Given the description of an element on the screen output the (x, y) to click on. 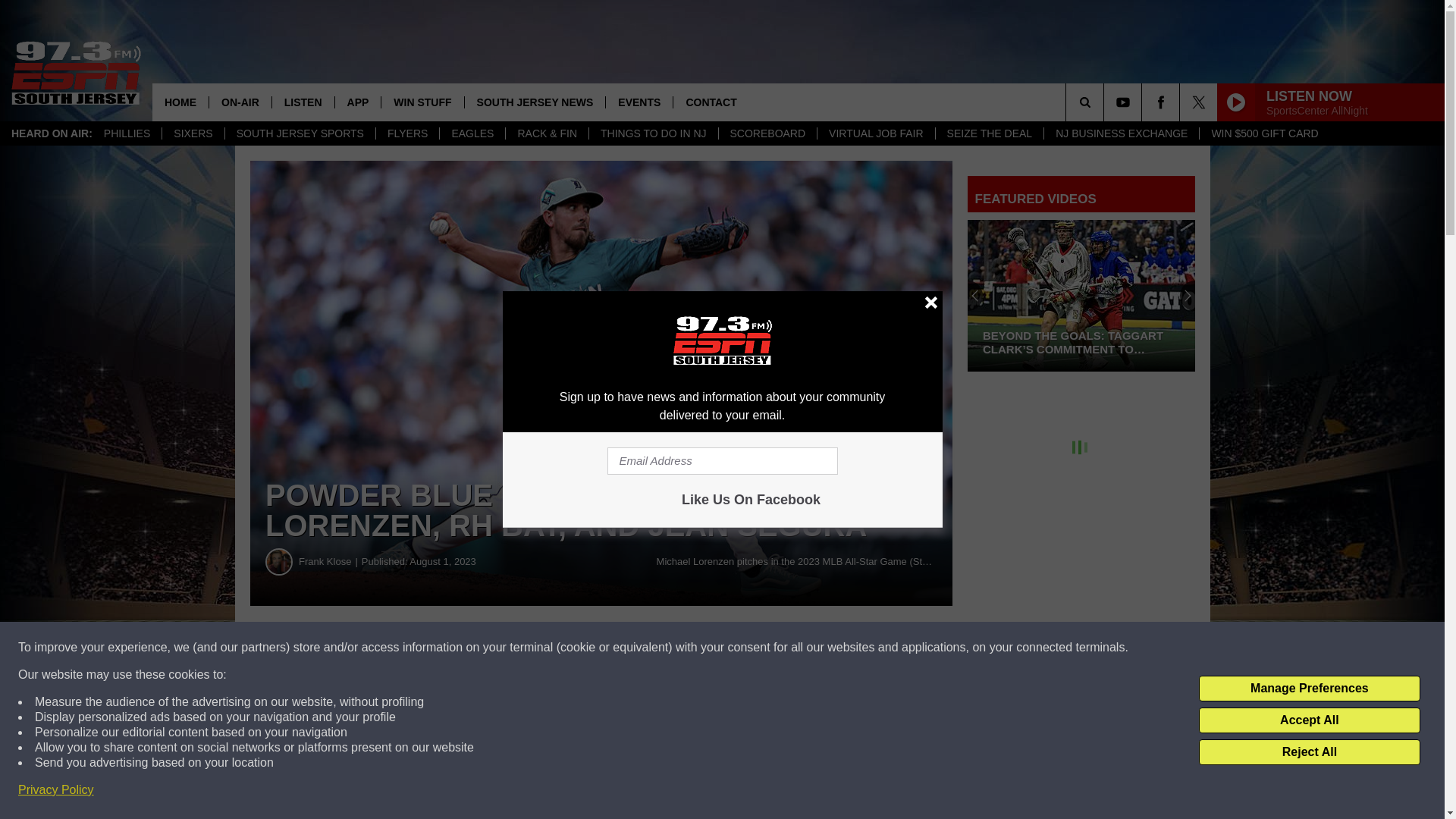
SEARCH (1106, 102)
VIRTUAL JOB FAIR (875, 133)
SEIZE THE DEAL (988, 133)
SOUTH JERSEY SPORTS (299, 133)
Accept All (1309, 720)
SEARCH (1106, 102)
Manage Preferences (1309, 688)
EAGLES (472, 133)
SCOREBOARD (766, 133)
Share on Facebook (460, 647)
HOME (180, 102)
APP (357, 102)
Share on Twitter (741, 647)
SIXERS (192, 133)
Privacy Policy (55, 789)
